Given the description of an element on the screen output the (x, y) to click on. 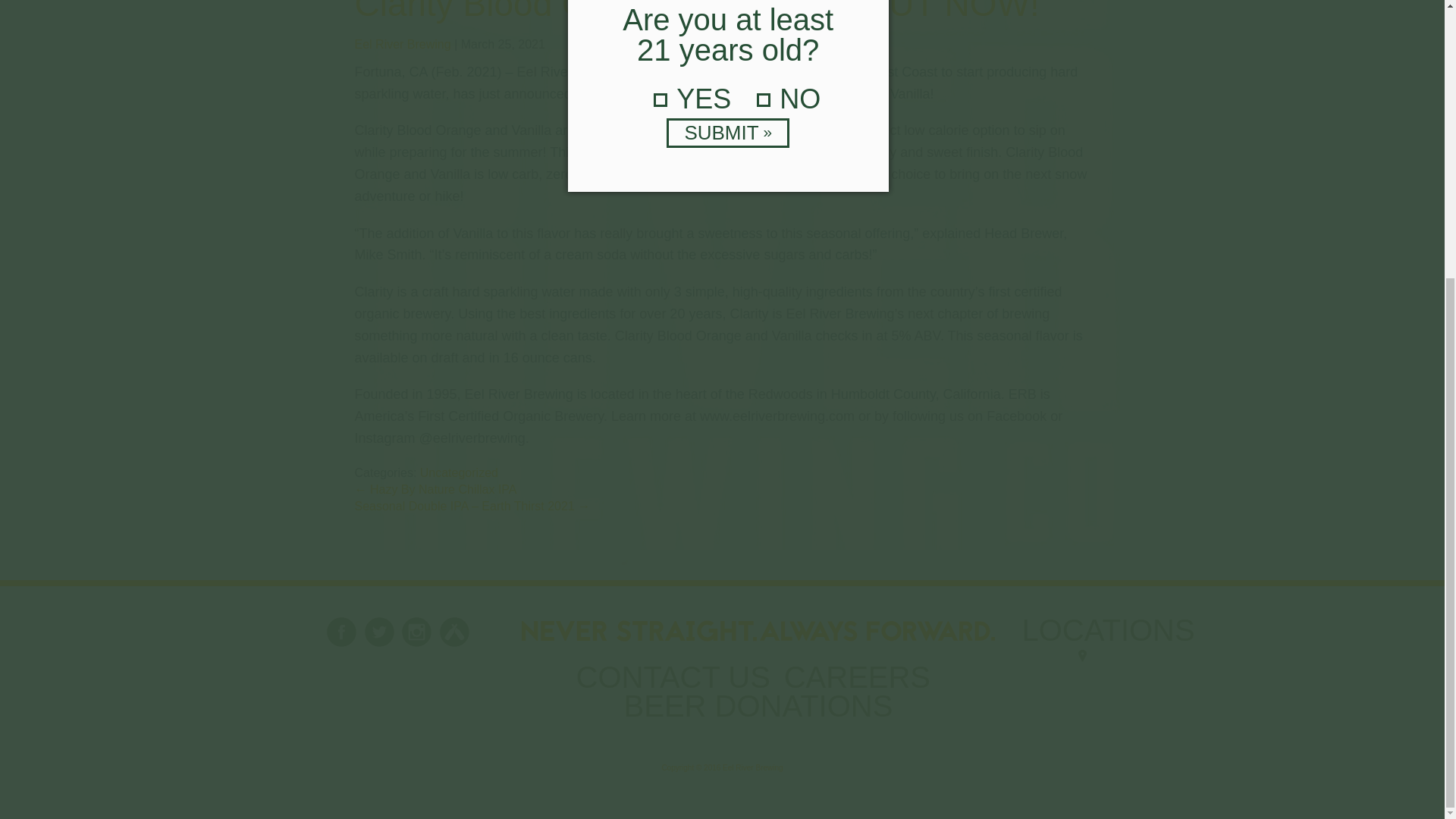
CAREERS (859, 683)
BEER DONATIONS (758, 712)
CONTACT US (675, 683)
Uncategorized (458, 472)
Eel River Brewing (403, 43)
Posts by Eel River Brewing (403, 43)
LOCATIONS (1108, 649)
